Given the description of an element on the screen output the (x, y) to click on. 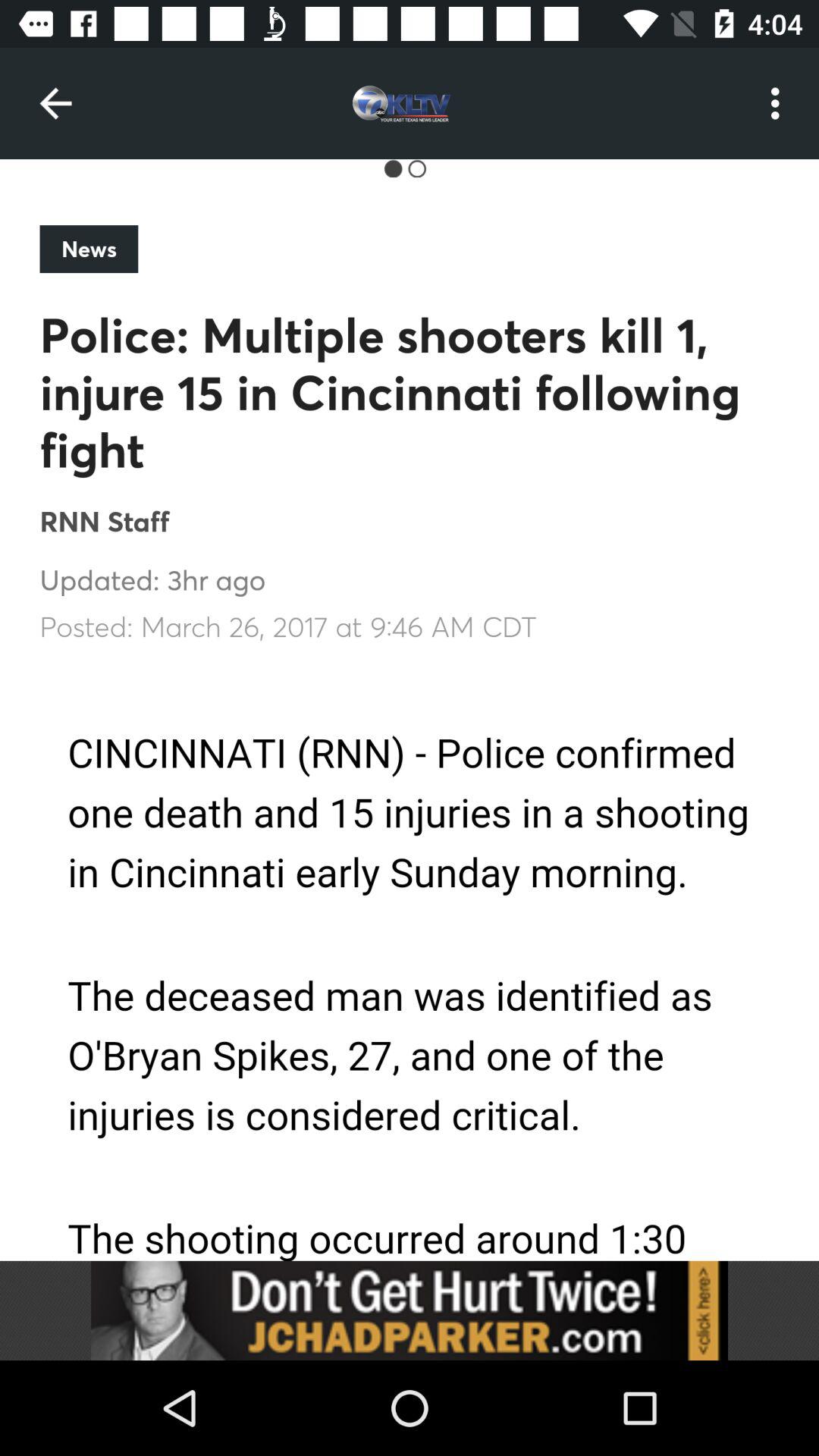
advertisement (409, 1310)
